Given the description of an element on the screen output the (x, y) to click on. 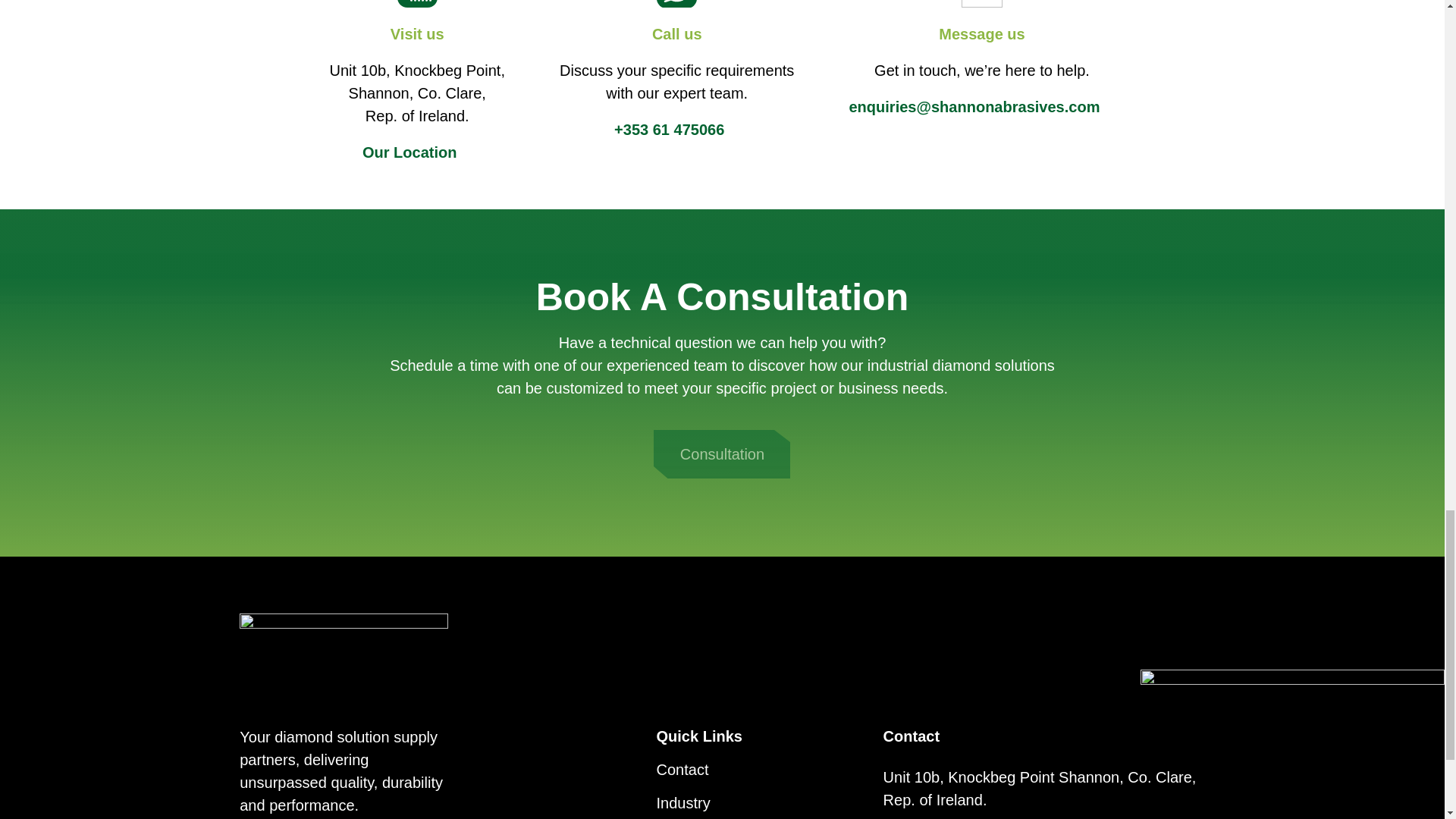
Our Location (409, 151)
Industry (683, 802)
Consultation (721, 453)
Contact (681, 769)
